Given the description of an element on the screen output the (x, y) to click on. 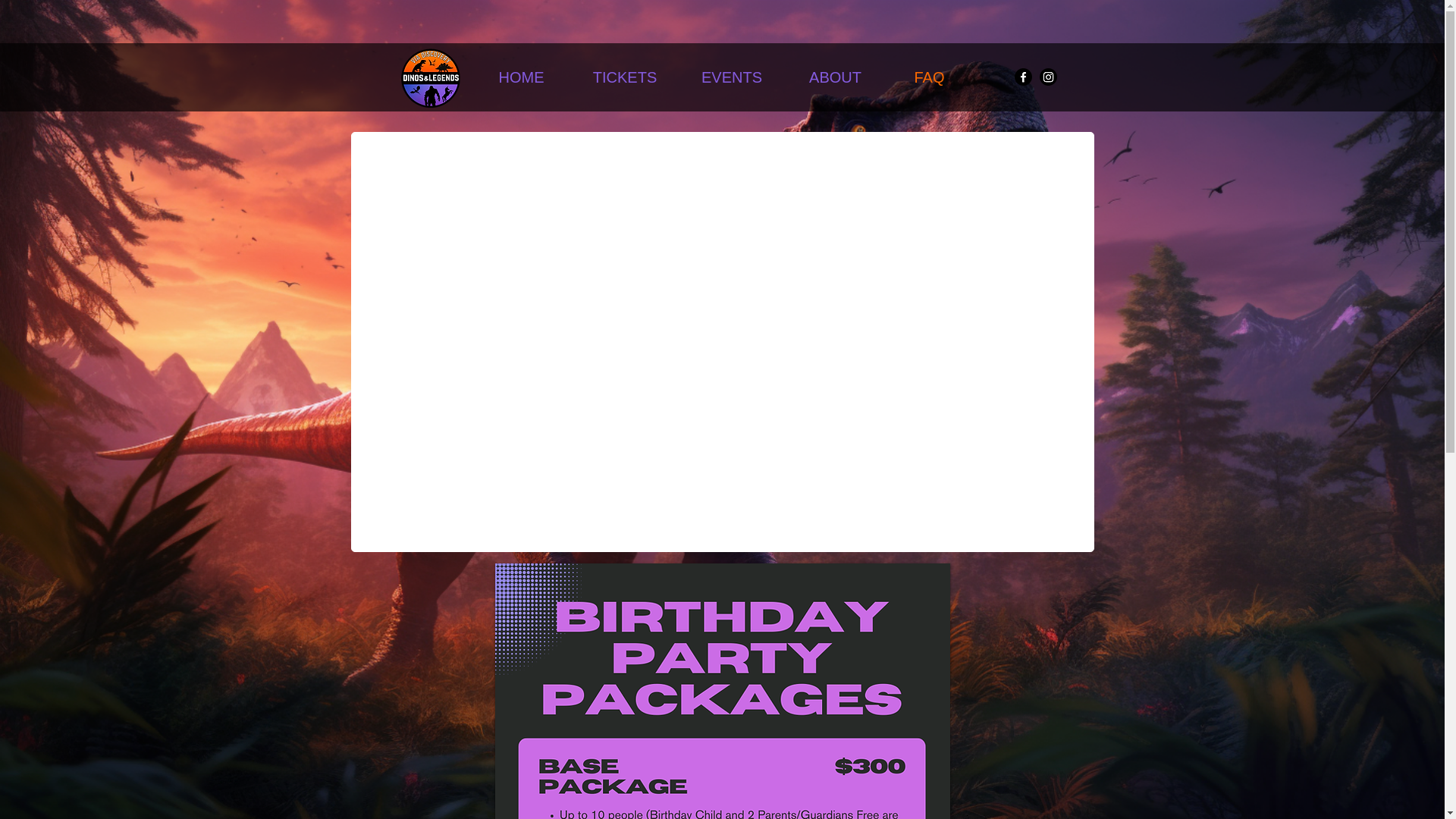
HOME (520, 77)
ABOUT (834, 77)
FAQ (928, 77)
TICKETS (624, 77)
EVENTS (731, 77)
